Given the description of an element on the screen output the (x, y) to click on. 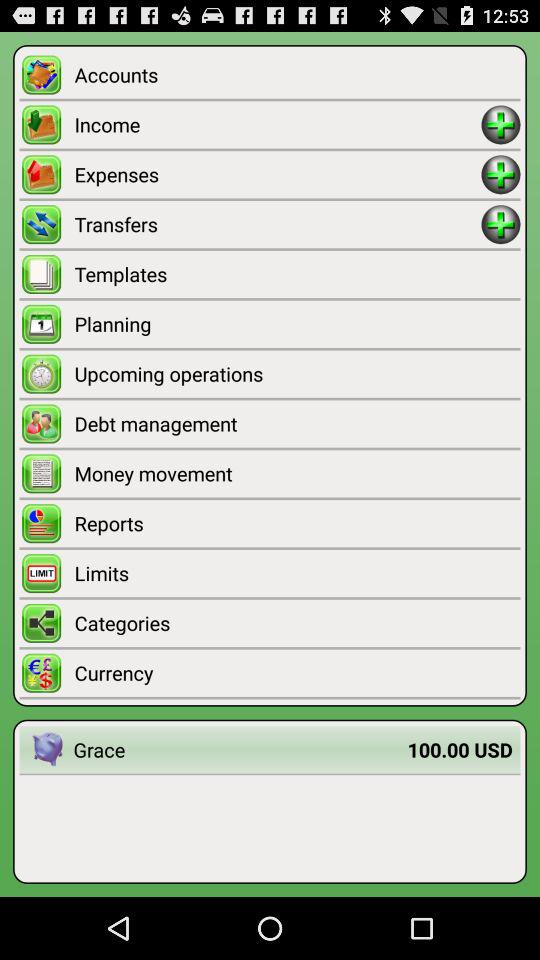
add income amount (500, 124)
